Given the description of an element on the screen output the (x, y) to click on. 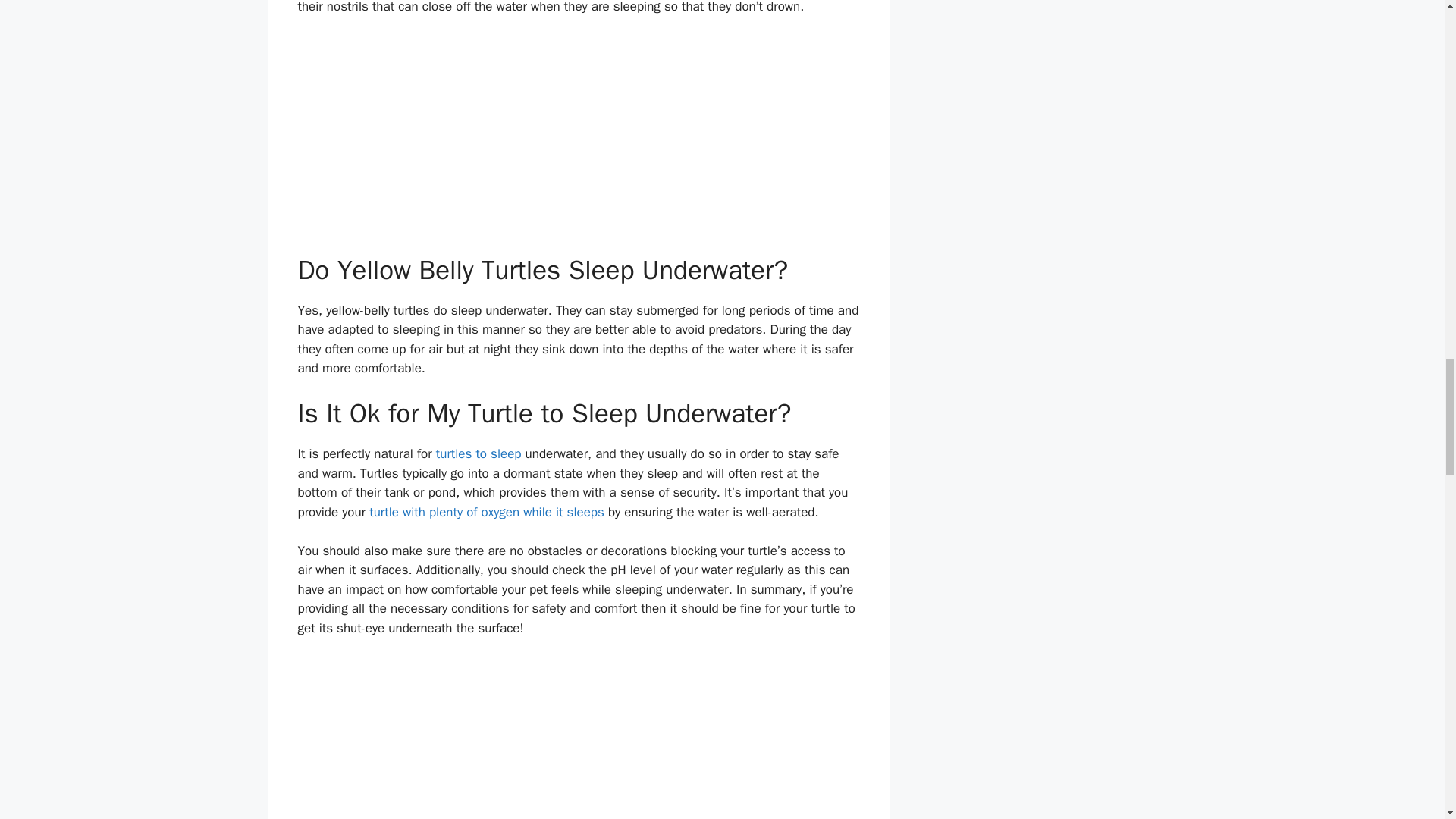
turtle with plenty of oxygen while it sleeps (486, 512)
turtles to sleep (478, 453)
Advertisement (578, 142)
